Given the description of an element on the screen output the (x, y) to click on. 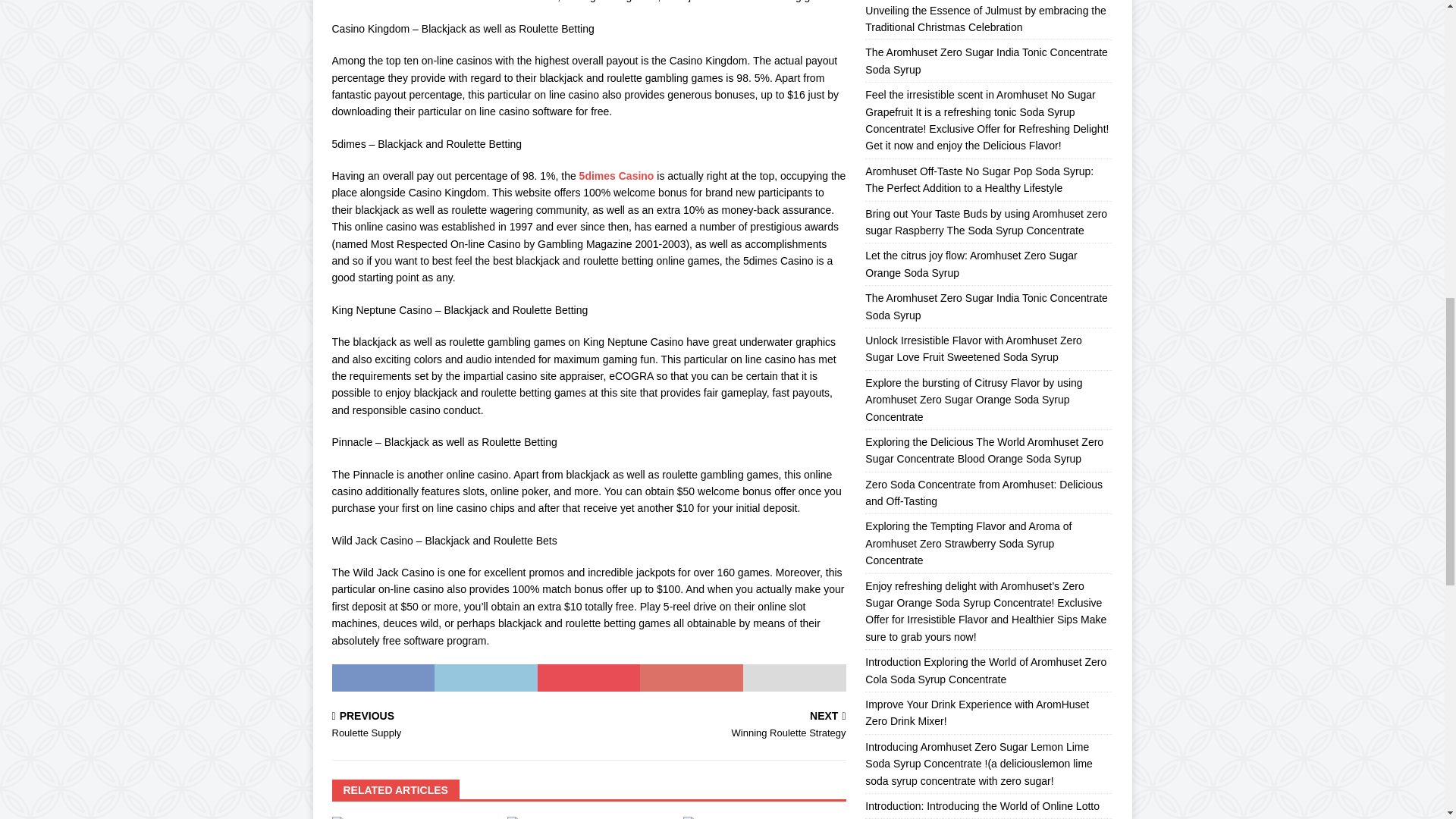
5dimes Casino (457, 726)
